Given the description of an element on the screen output the (x, y) to click on. 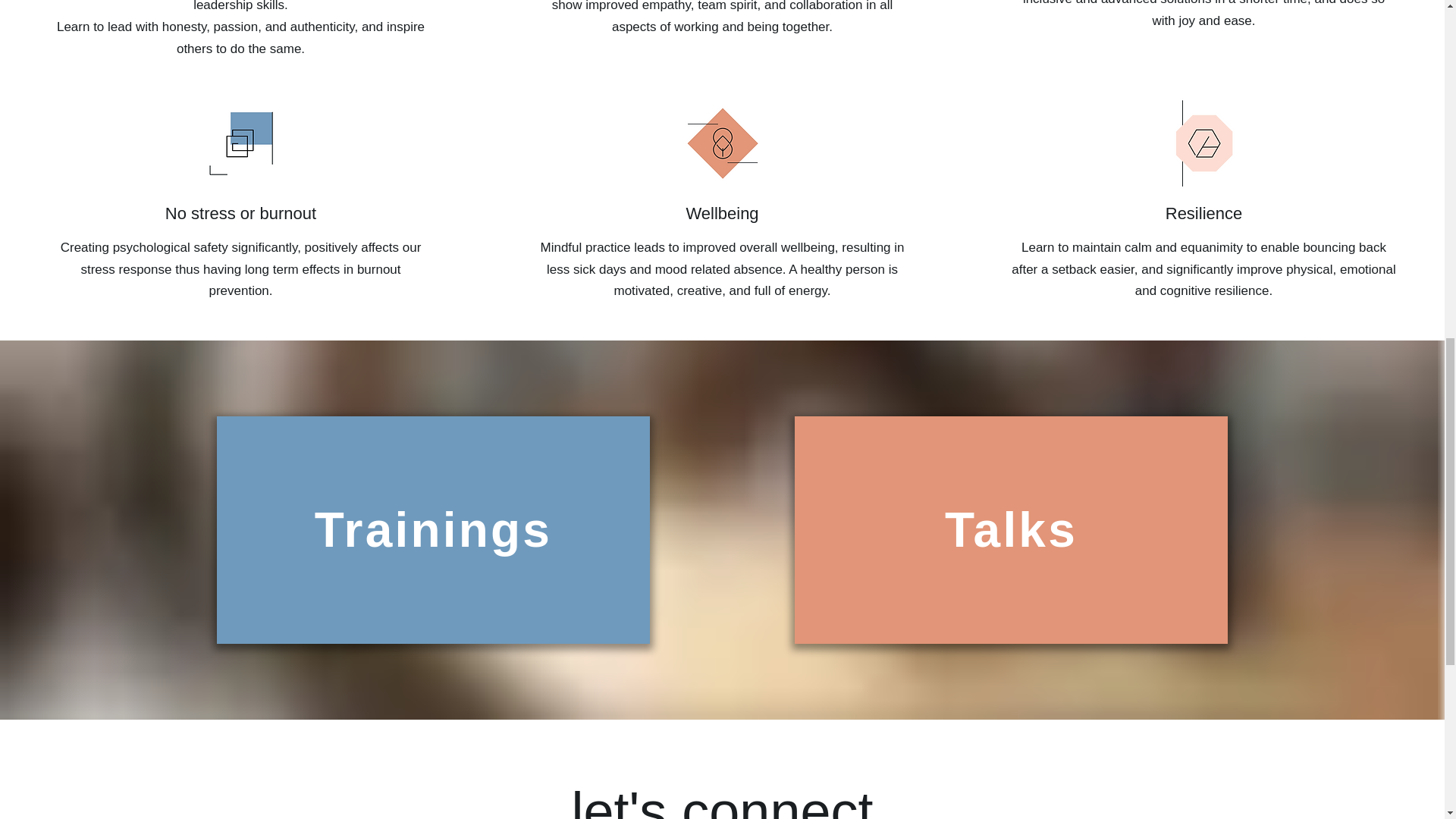
Trainings (432, 529)
Talks (1010, 529)
let's connect (722, 800)
